Given the description of an element on the screen output the (x, y) to click on. 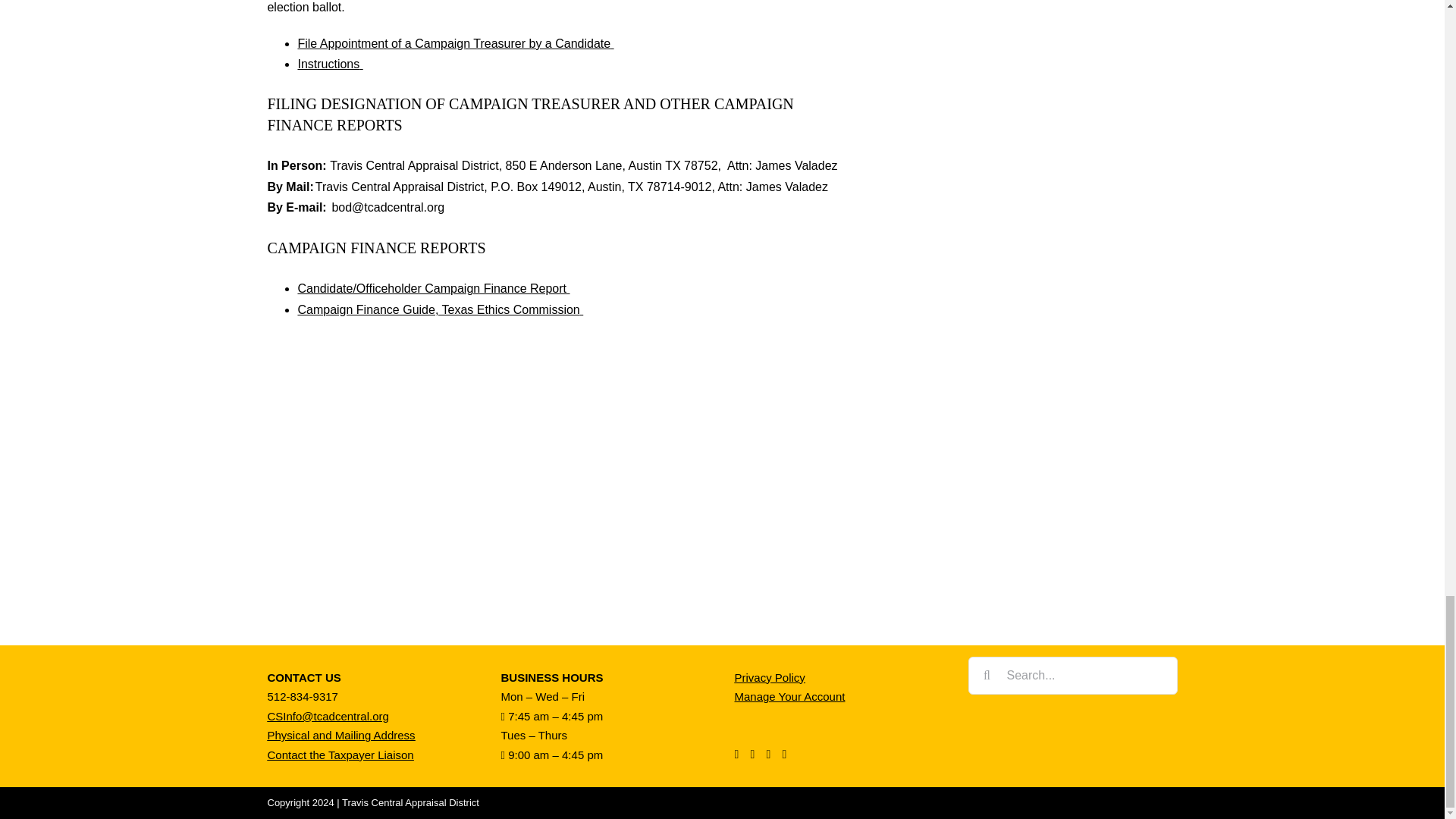
Twitter (753, 754)
Instagram (769, 754)
Facebook (735, 754)
LinkedIn (785, 754)
